Given the description of an element on the screen output the (x, y) to click on. 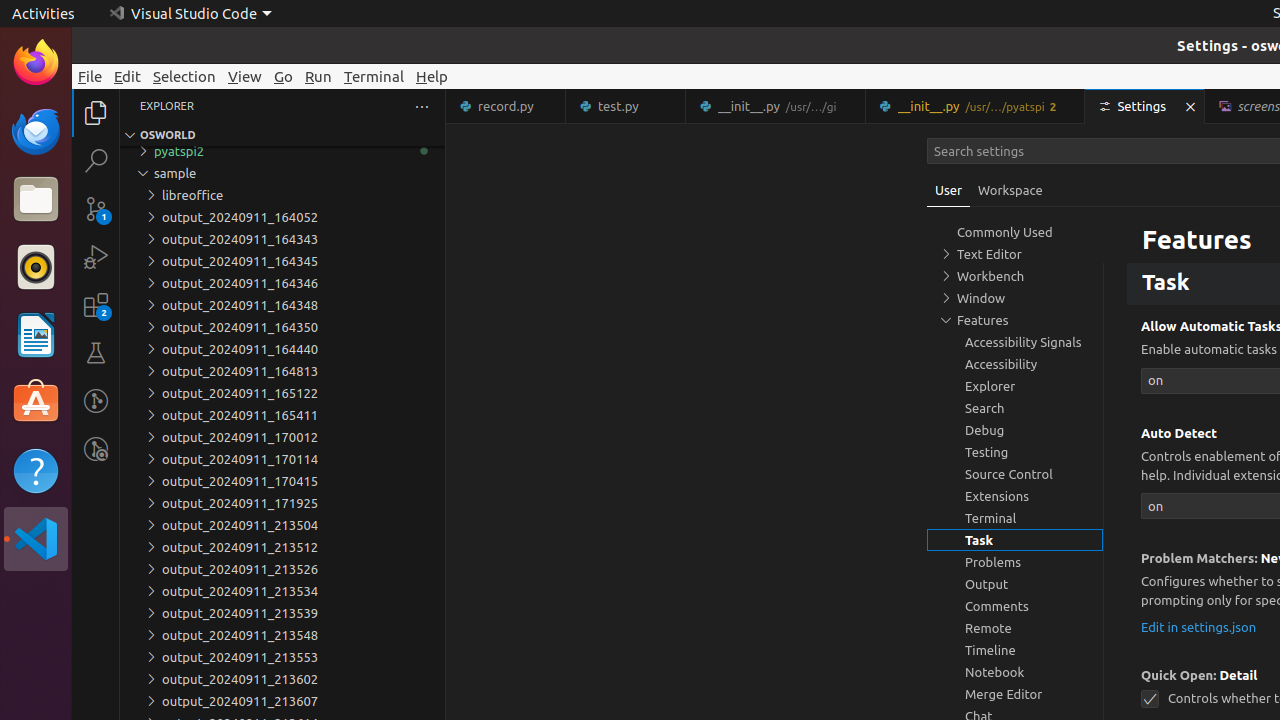
Run and Debug (Ctrl+Shift+D) Element type: page-tab (96, 257)
View Element type: push-button (245, 76)
output_20240911_164052 Element type: tree-item (282, 217)
Search, group Element type: tree-item (1015, 408)
Output, group Element type: tree-item (1015, 584)
